Given the description of an element on the screen output the (x, y) to click on. 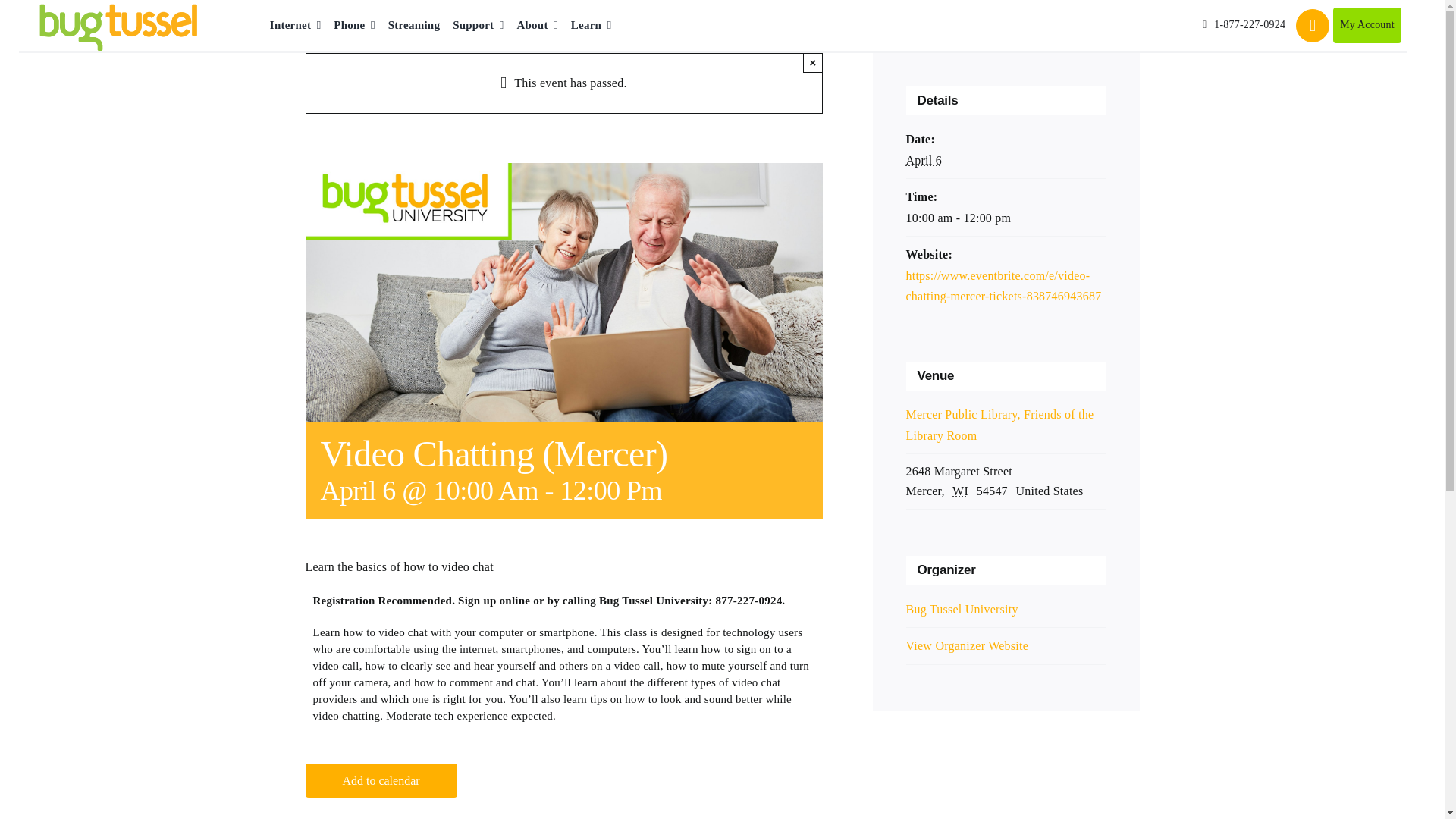
Streaming (413, 25)
Bug Tussel University (961, 608)
My Account (1366, 25)
Learn (590, 25)
2024-04-06 (922, 160)
About (536, 25)
1-877-227-0924 (1243, 25)
Internet (295, 25)
Support (477, 25)
Phone (353, 25)
2024-04-06 (1005, 218)
Wisconsin (962, 490)
